Given the description of an element on the screen output the (x, y) to click on. 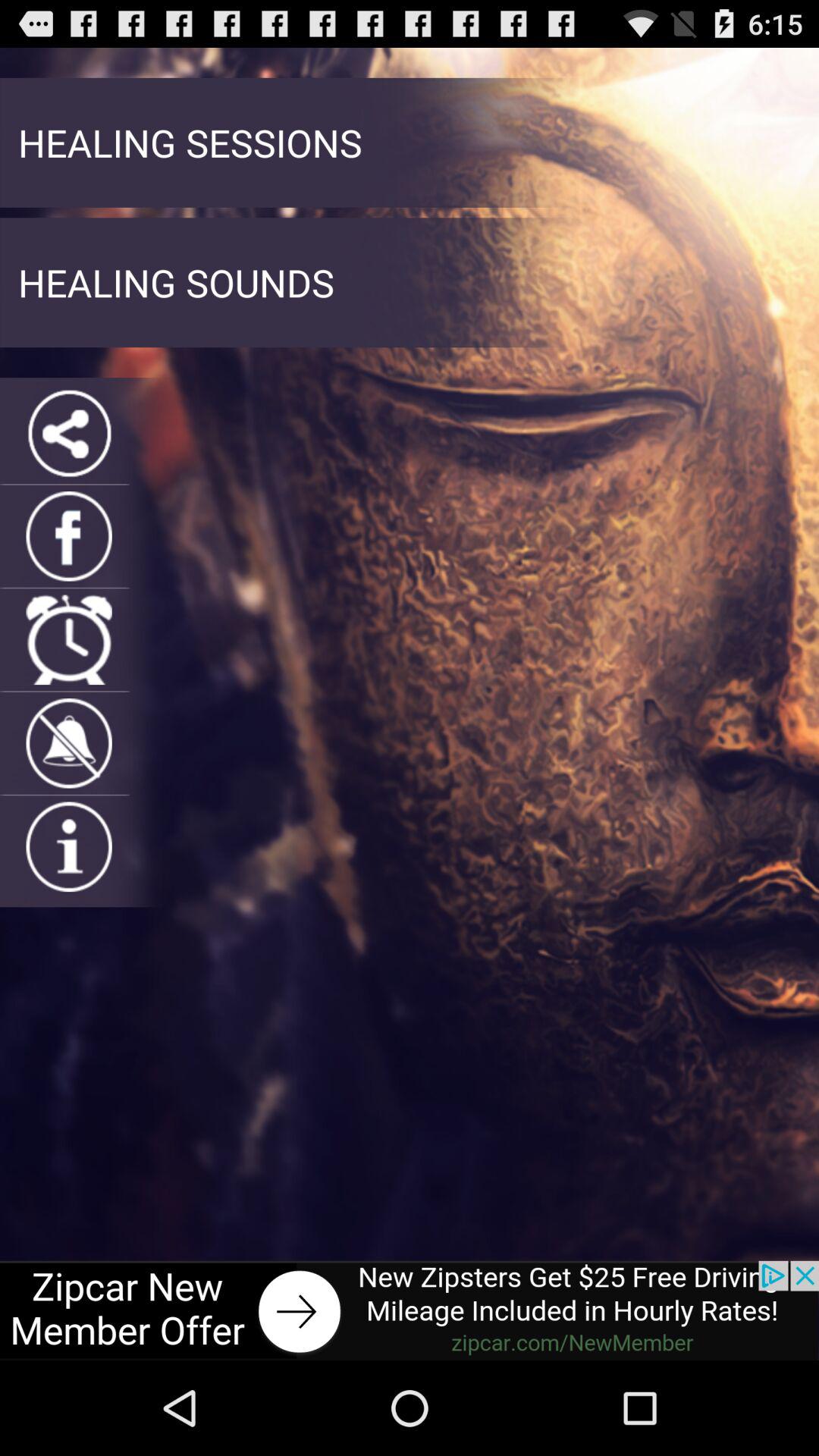
self healing is our humble effort to bring spiritual physical and mental (69, 743)
